Given the description of an element on the screen output the (x, y) to click on. 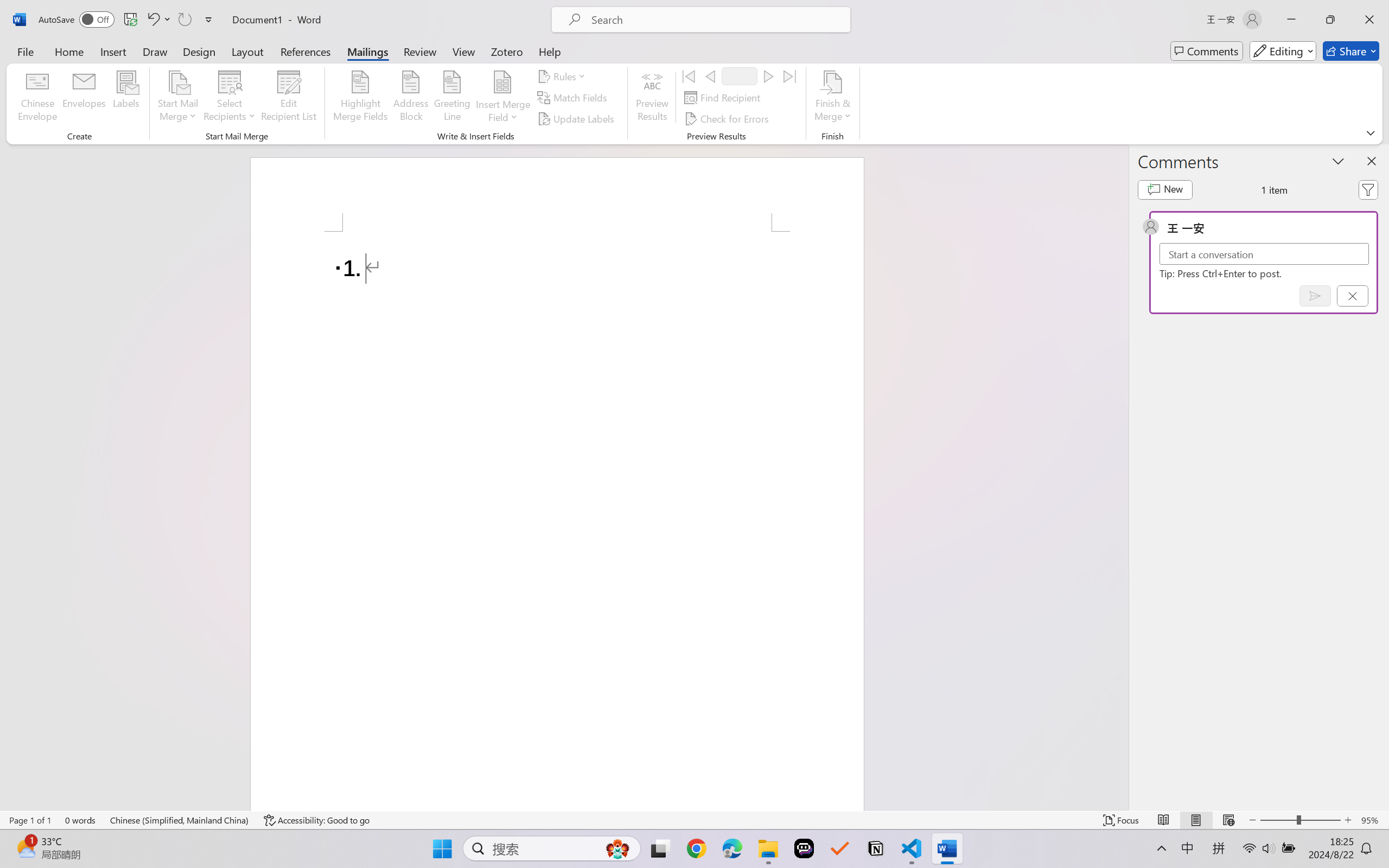
Repeat Doc Close (184, 19)
Update Labels (576, 118)
Match Fields... (573, 97)
Cancel (1352, 295)
